Given the description of an element on the screen output the (x, y) to click on. 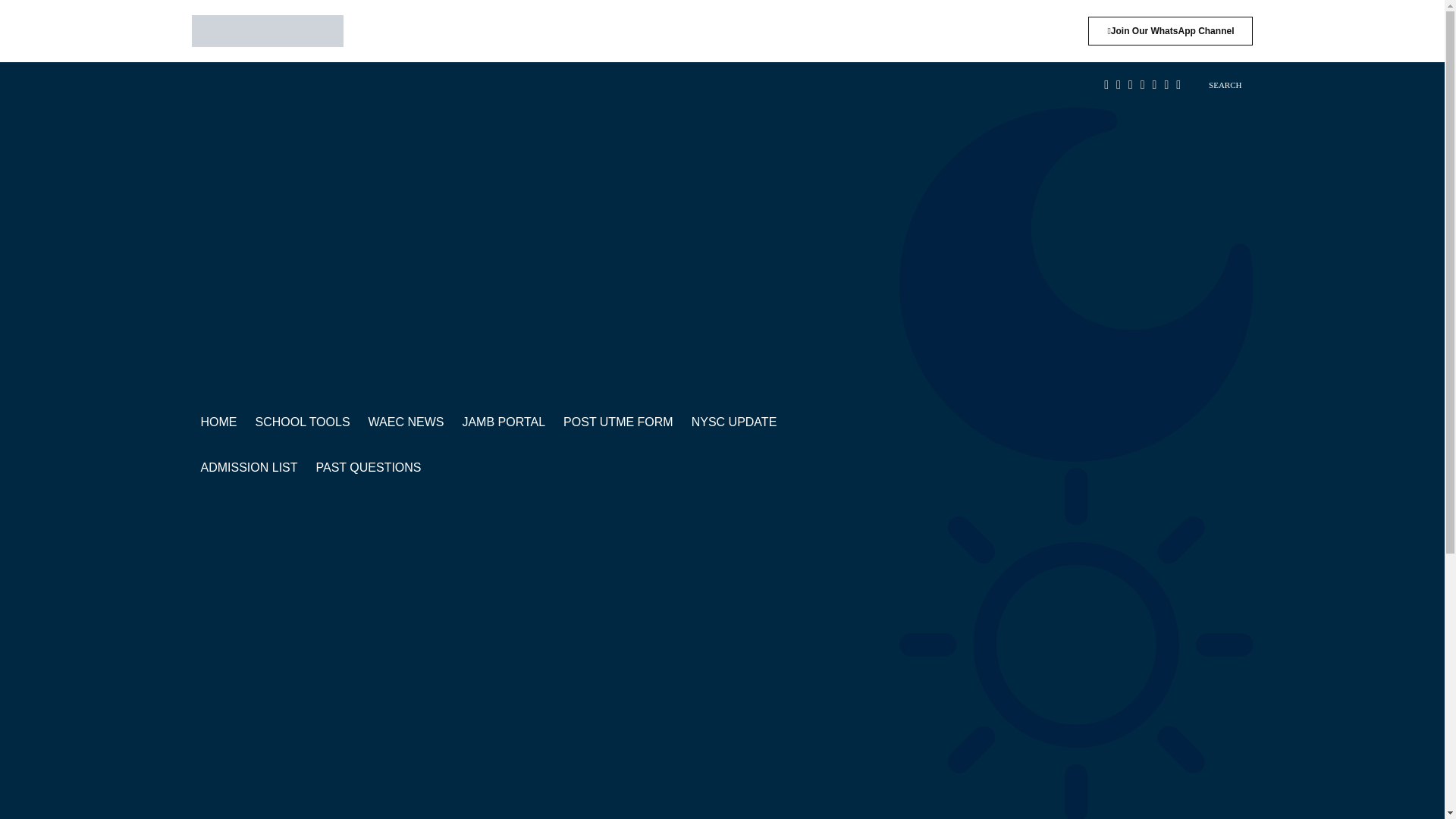
SCHOOL TOOLS (302, 422)
ADMISSION LIST (247, 467)
PAST QUESTIONS (368, 467)
POST UTME FORM (618, 422)
HOME (218, 422)
SEARCH (1216, 84)
NYSC UPDATE (734, 422)
JAMB PORTAL (503, 422)
WAEC NEWS (405, 422)
Join Our WhatsApp Channel (1169, 30)
